Given the description of an element on the screen output the (x, y) to click on. 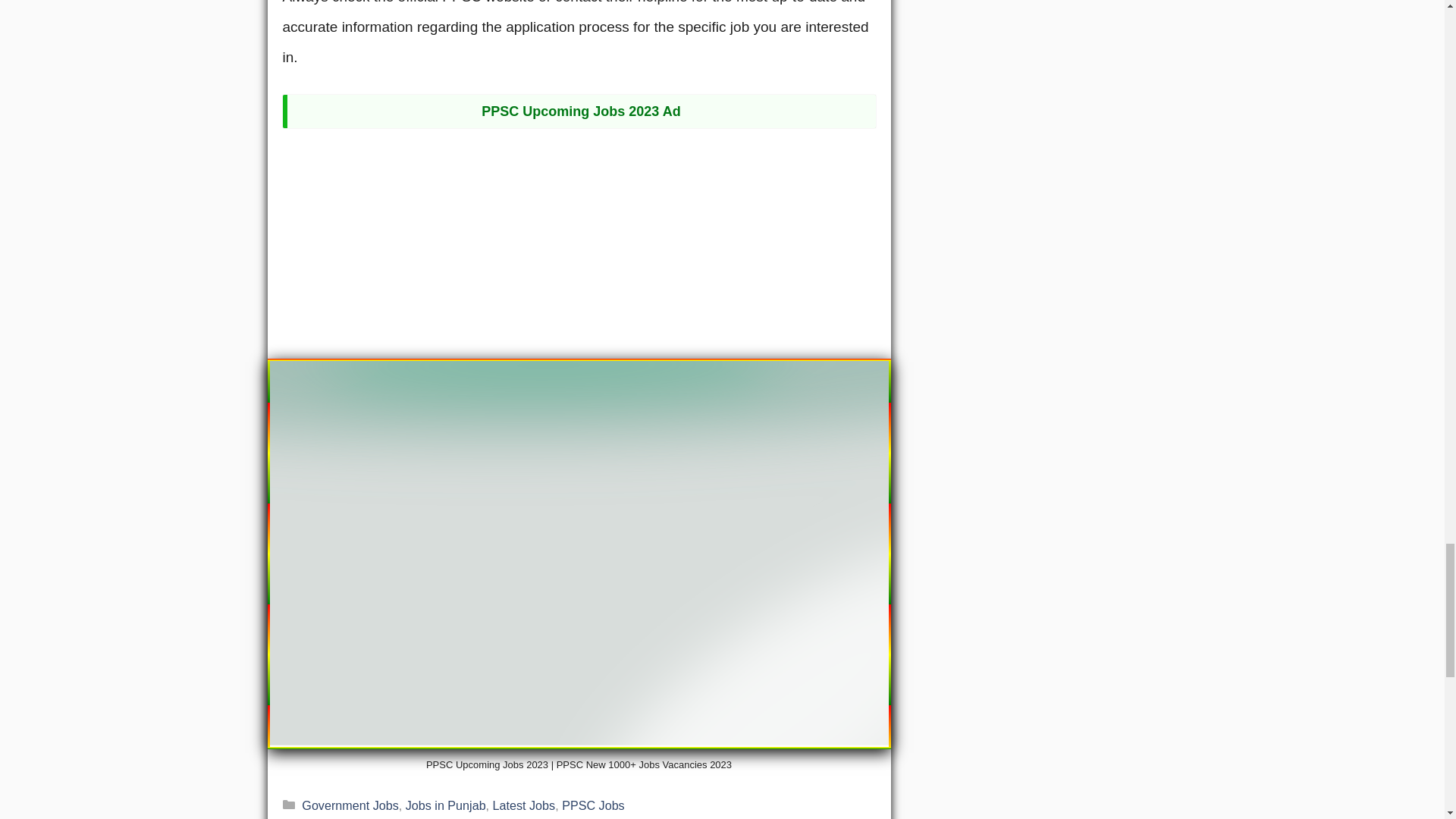
Jobs in Punjab (446, 805)
PPSC Jobs (593, 805)
Latest Jobs (524, 805)
Government Jobs (349, 805)
